Given the description of an element on the screen output the (x, y) to click on. 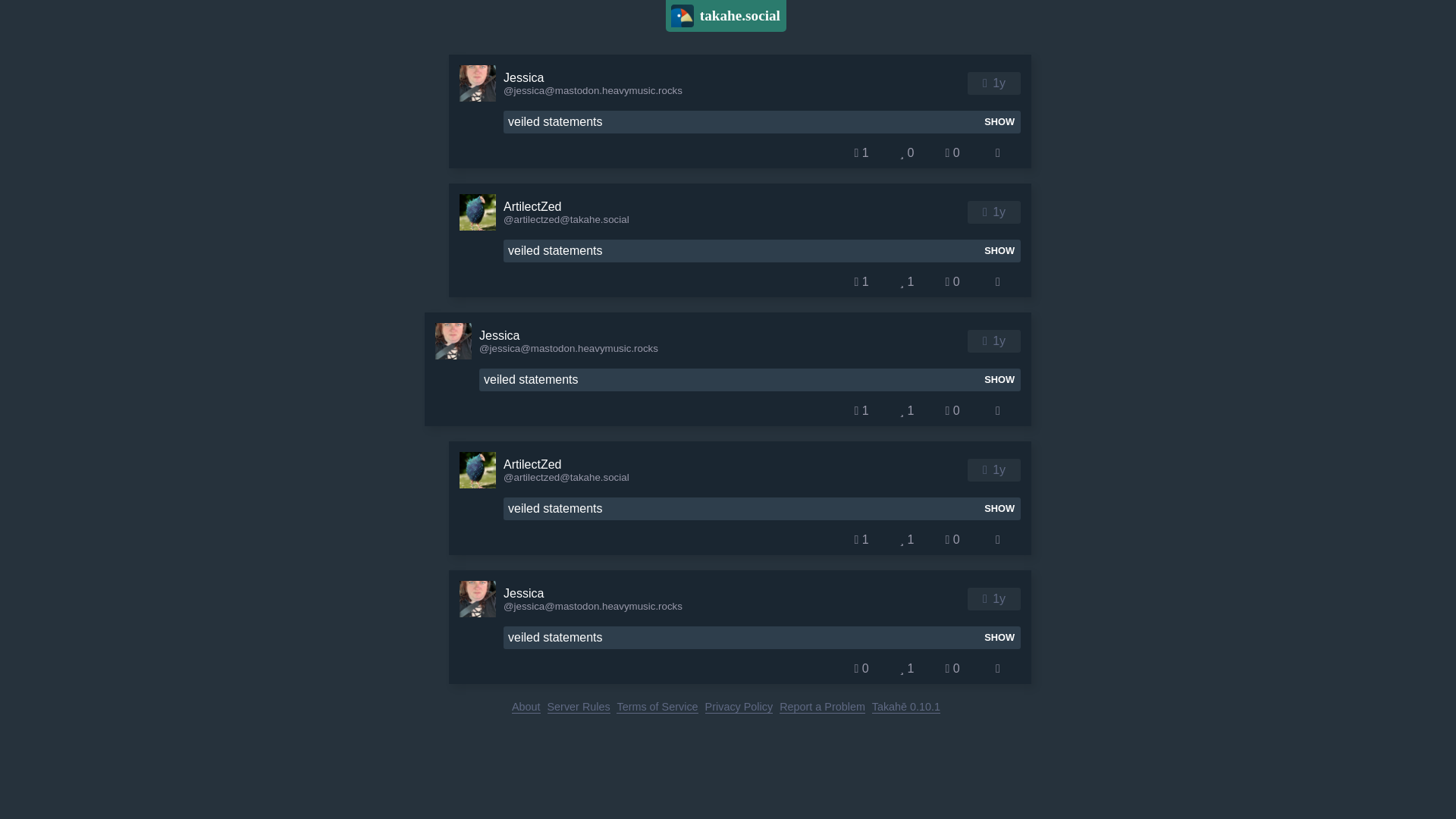
Replies (860, 281)
1 (860, 539)
Likes (906, 281)
Likes (906, 410)
1 (860, 410)
1 (860, 152)
1y (999, 82)
1 (906, 410)
0 (952, 410)
Unlisted (984, 212)
Public (984, 82)
Menu (997, 152)
Unlisted (984, 469)
takahe.social (725, 15)
1y (999, 469)
